Given the description of an element on the screen output the (x, y) to click on. 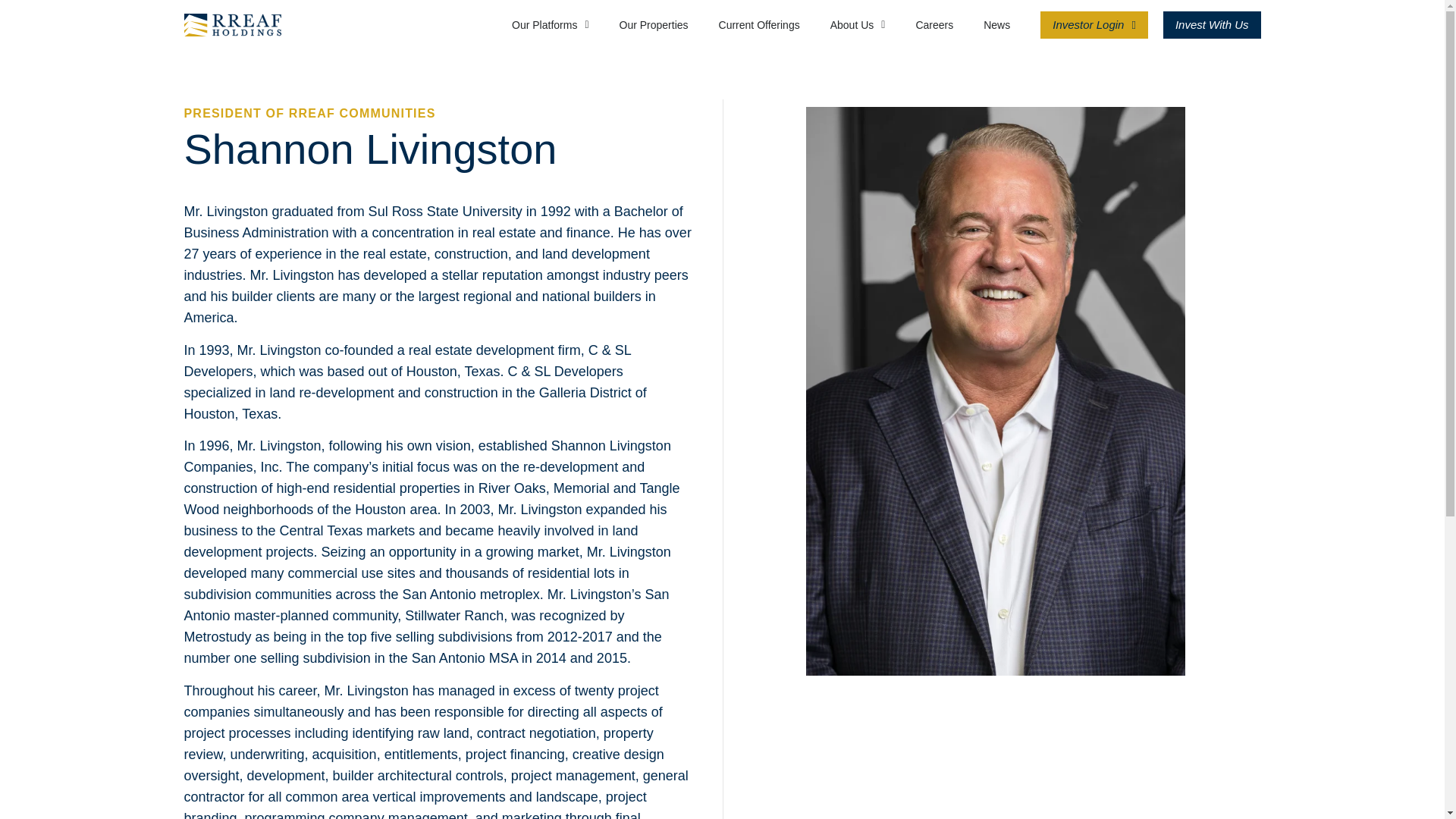
Our Properties (654, 24)
Careers (934, 24)
Investor Login (1094, 24)
About Us (857, 24)
Invest With Us (1211, 24)
Our Platforms (550, 24)
Current Offerings (759, 24)
News (997, 24)
